Given the description of an element on the screen output the (x, y) to click on. 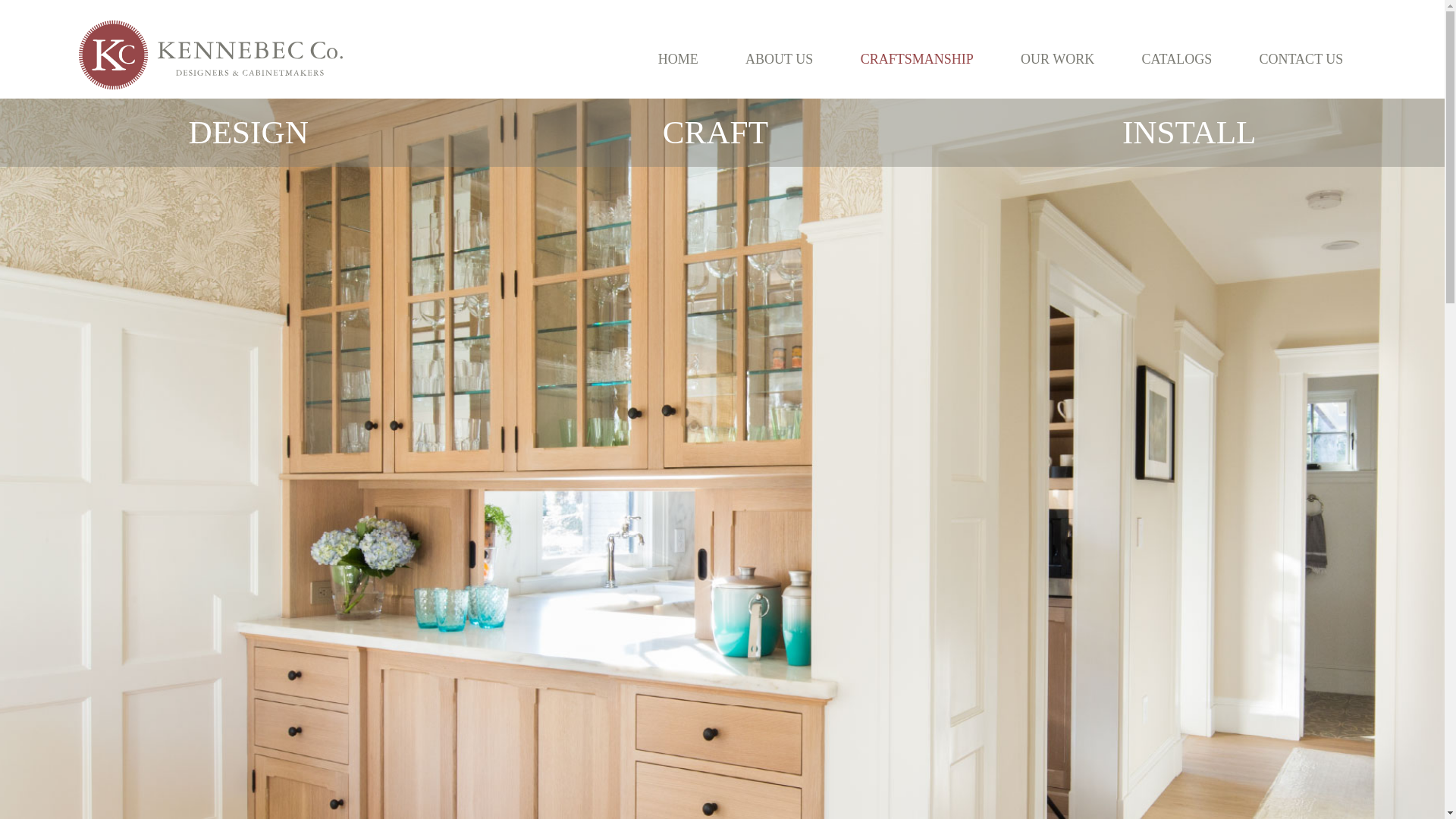
CATALOGS (1176, 57)
CONTACT US (1300, 57)
ABOUT US (778, 57)
CRAFTSMANSHIP (916, 57)
OUR WORK (1057, 57)
HOME (677, 57)
